Given the description of an element on the screen output the (x, y) to click on. 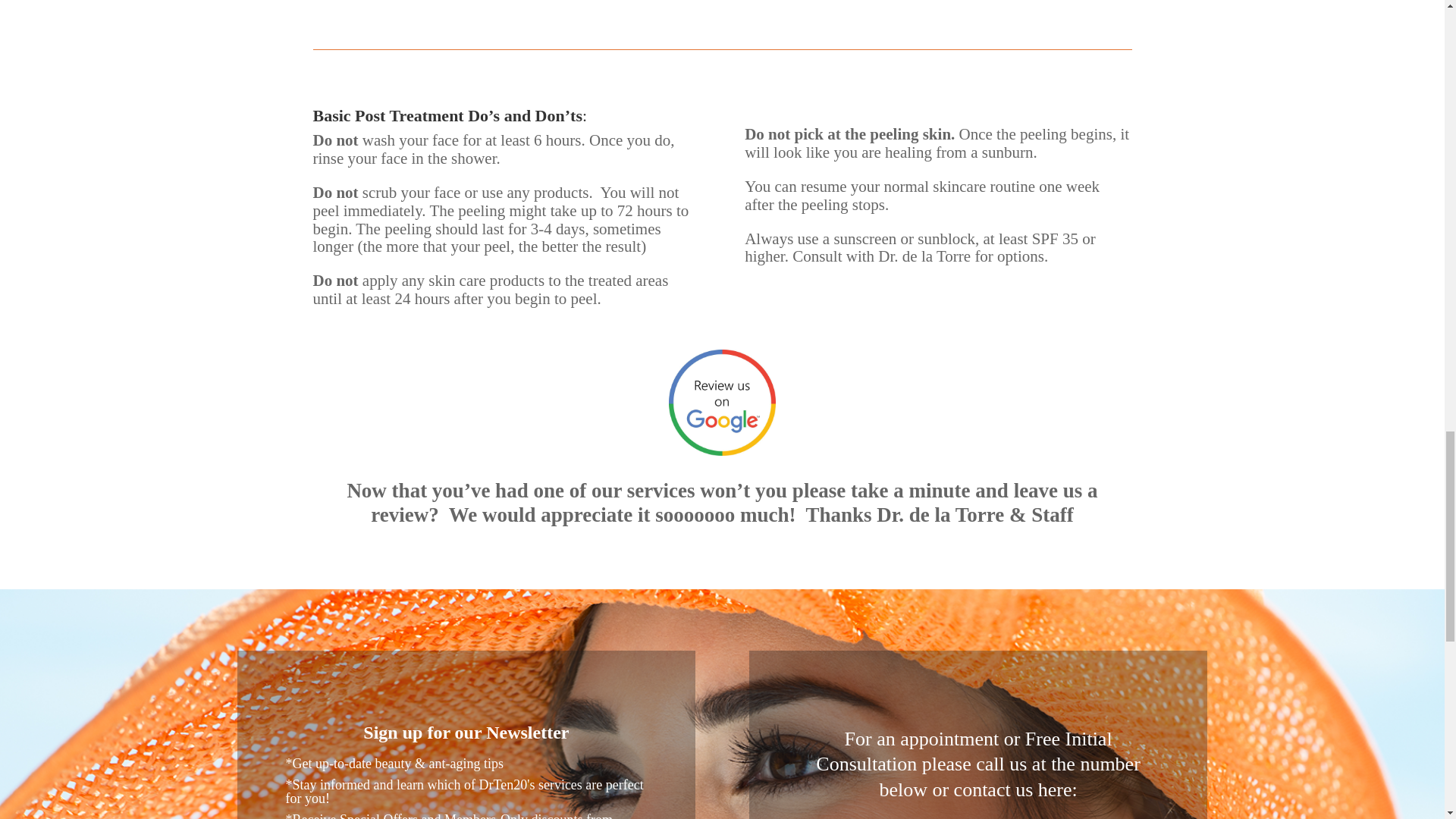
Google-Review-Icon (721, 402)
